Given the description of an element on the screen output the (x, y) to click on. 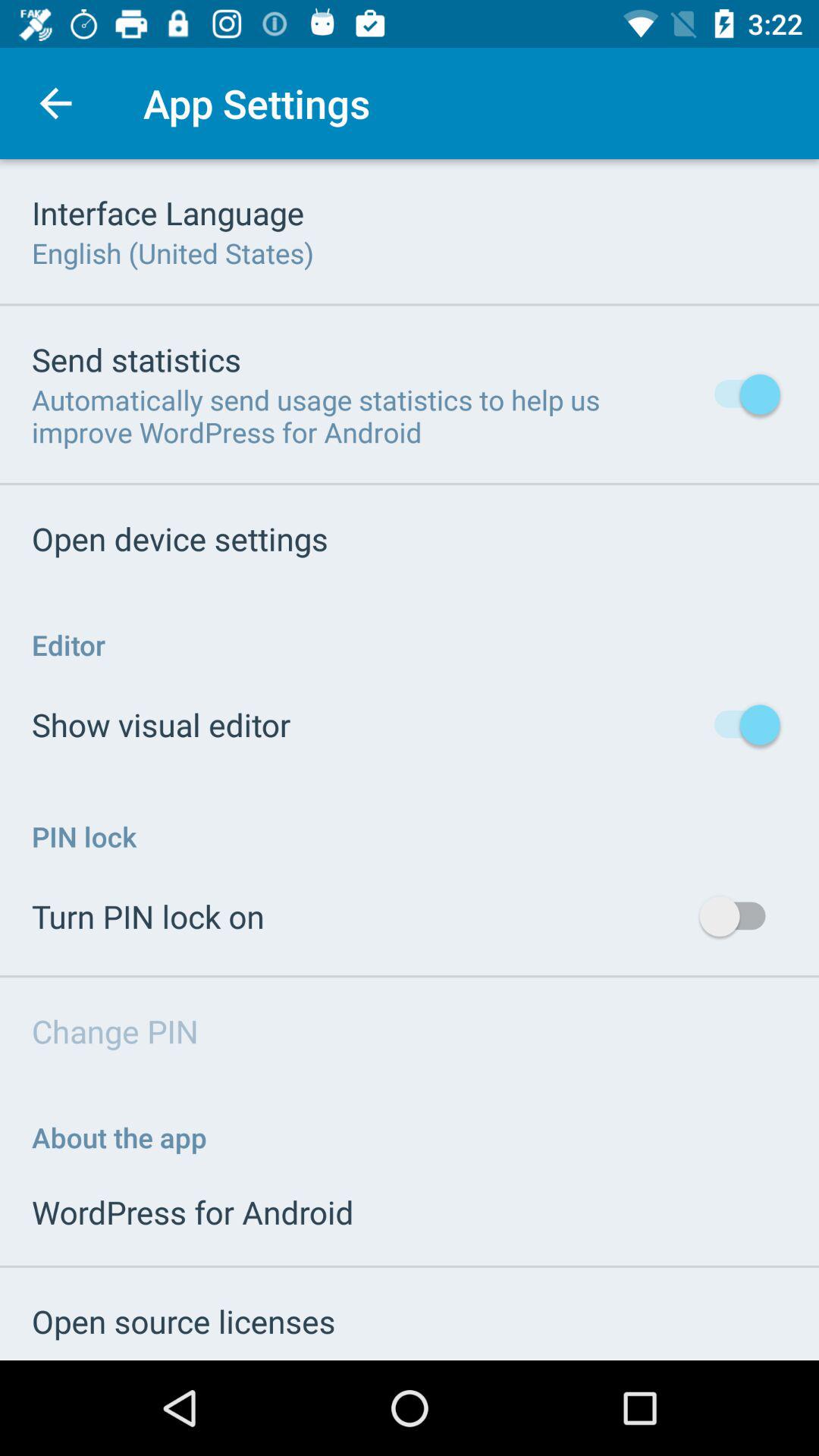
flip until english (united states) (172, 252)
